Given the description of an element on the screen output the (x, y) to click on. 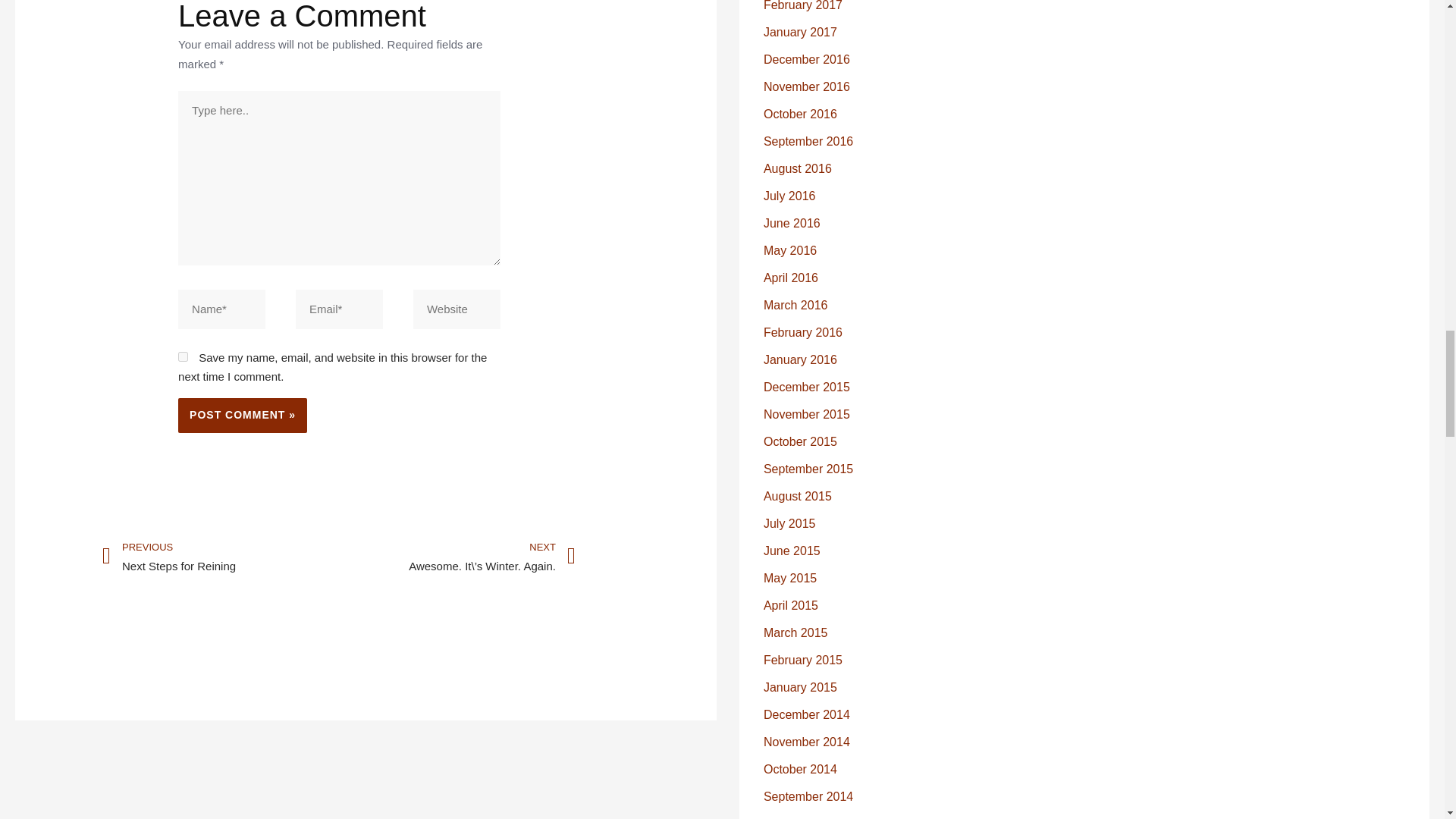
yes (182, 356)
